Given the description of an element on the screen output the (x, y) to click on. 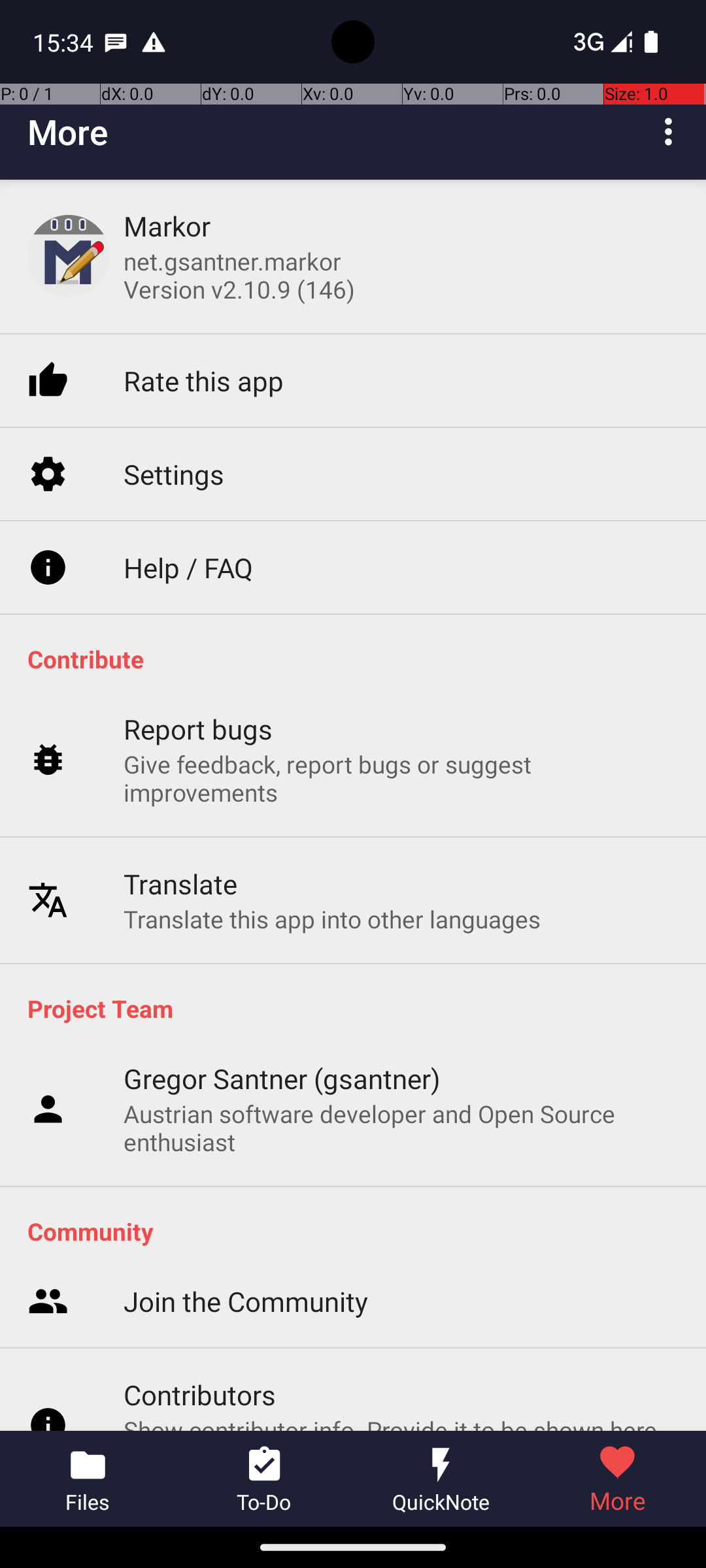
Contribute Element type: android.widget.TextView (359, 658)
Project Team Element type: android.widget.TextView (359, 1008)
Community Element type: android.widget.TextView (359, 1230)
net.gsantner.markor
Version v2.10.9 (146) Element type: android.widget.TextView (239, 274)
Rate this app Element type: android.widget.TextView (203, 320)
Help / FAQ Element type: android.widget.TextView (188, 508)
Report bugs Element type: android.widget.TextView (198, 668)
Give feedback, report bugs or suggest improvements Element type: android.widget.TextView (400, 717)
Translate Element type: android.widget.TextView (180, 826)
Translate this app into other languages Element type: android.widget.TextView (331, 861)
Gregor Santner (gsantner) Element type: android.widget.TextView (281, 1077)
Austrian software developer and Open Source enthusiast Element type: android.widget.TextView (400, 1127)
Join the Community Element type: android.widget.TextView (245, 1113)
Contributors Element type: android.widget.TextView (199, 1205)
Show contributor info. Provide it to be shown here on an opt-in basis after contributing Element type: android.widget.TextView (400, 1254)
